Given the description of an element on the screen output the (x, y) to click on. 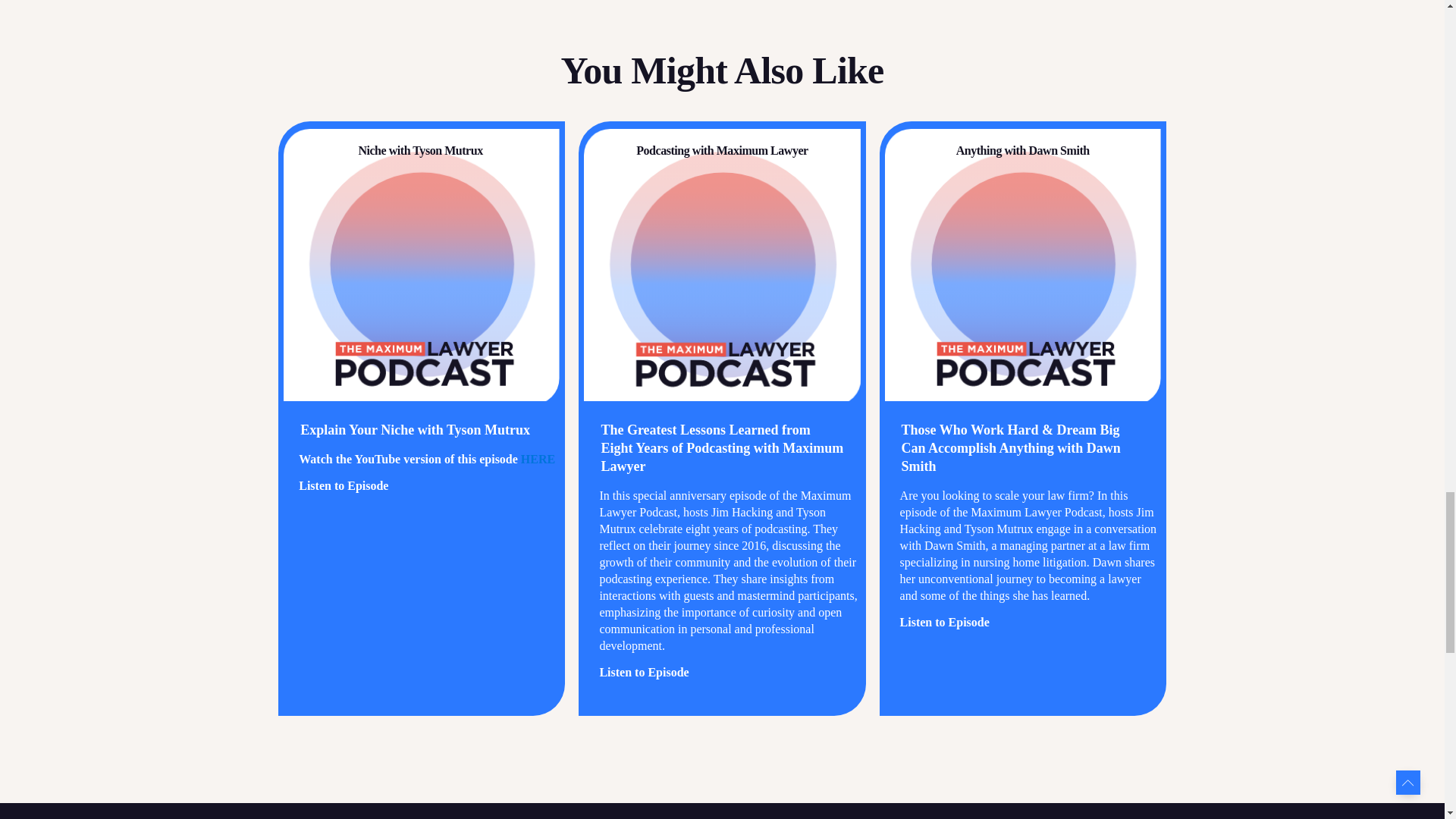
HERE (537, 459)
Explain Your Niche with Tyson Mutrux  (416, 429)
Listen to Episode (343, 485)
